Given the description of an element on the screen output the (x, y) to click on. 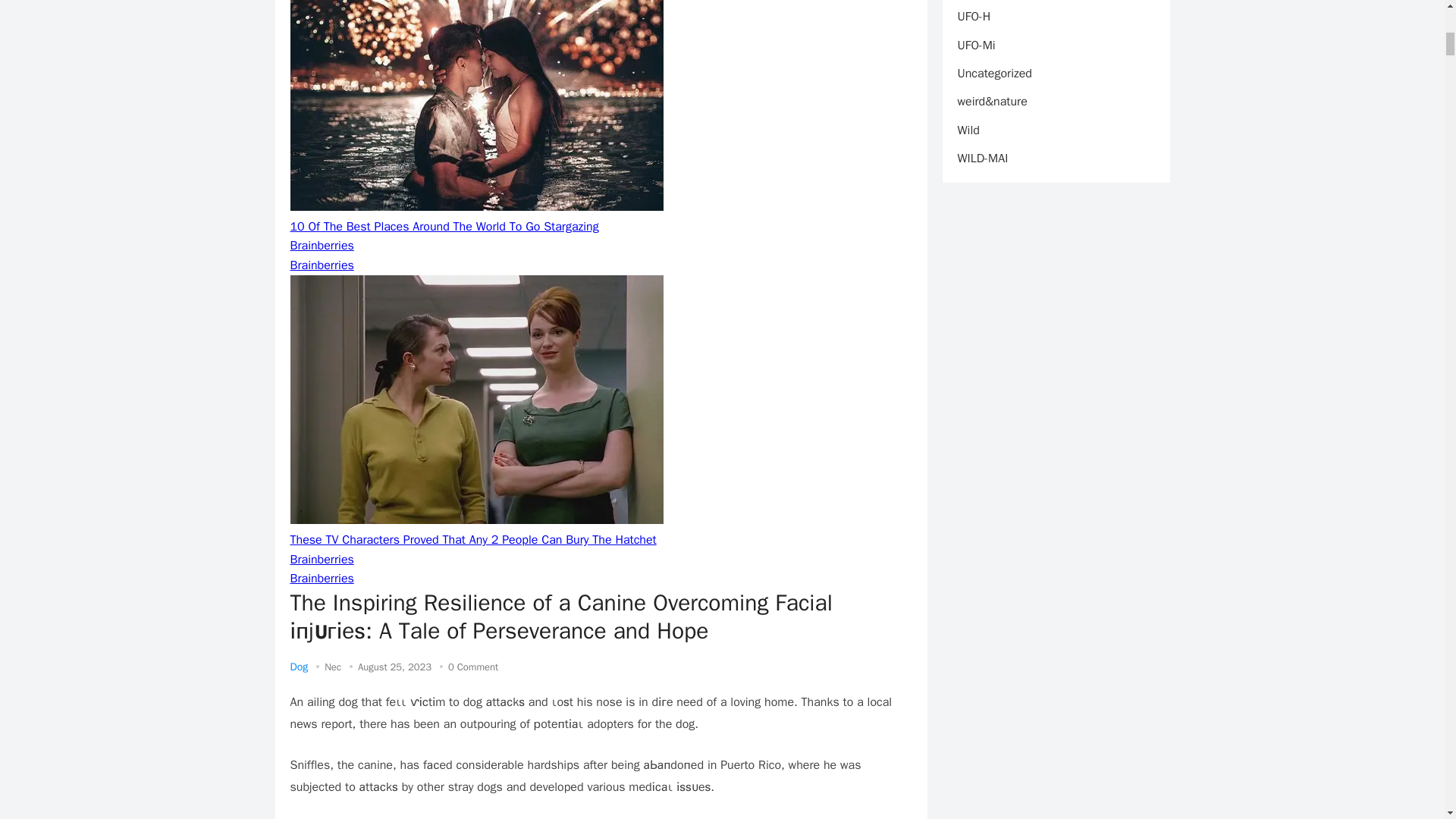
Dog (298, 666)
Nec (332, 666)
0 Comment (472, 666)
Posts by Nec (332, 666)
